Given the description of an element on the screen output the (x, y) to click on. 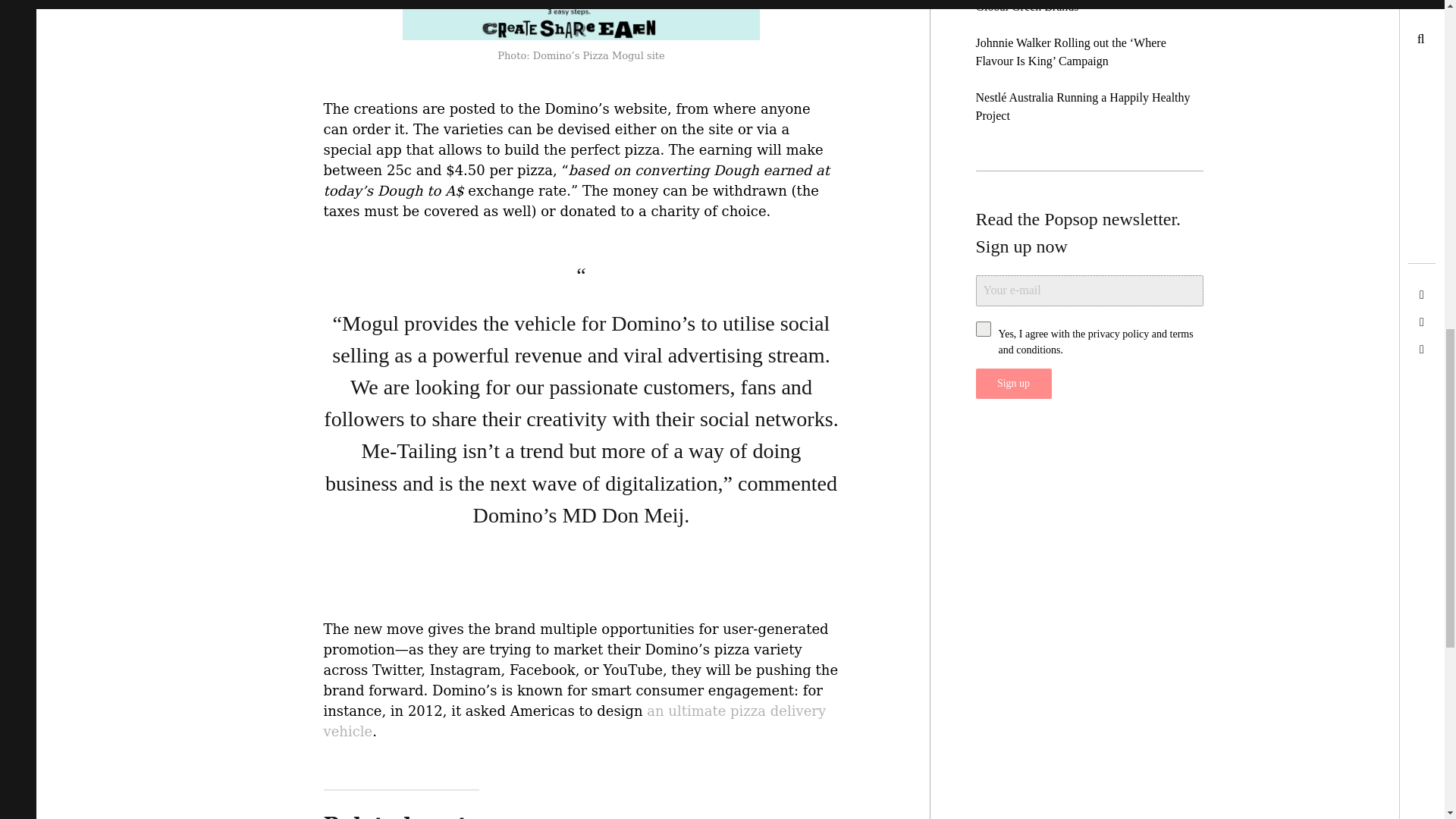
an ultimate pizza delivery vehicle (574, 721)
Sign up (1013, 383)
terms and conditions (1094, 340)
privacy policy (1117, 333)
